Given the description of an element on the screen output the (x, y) to click on. 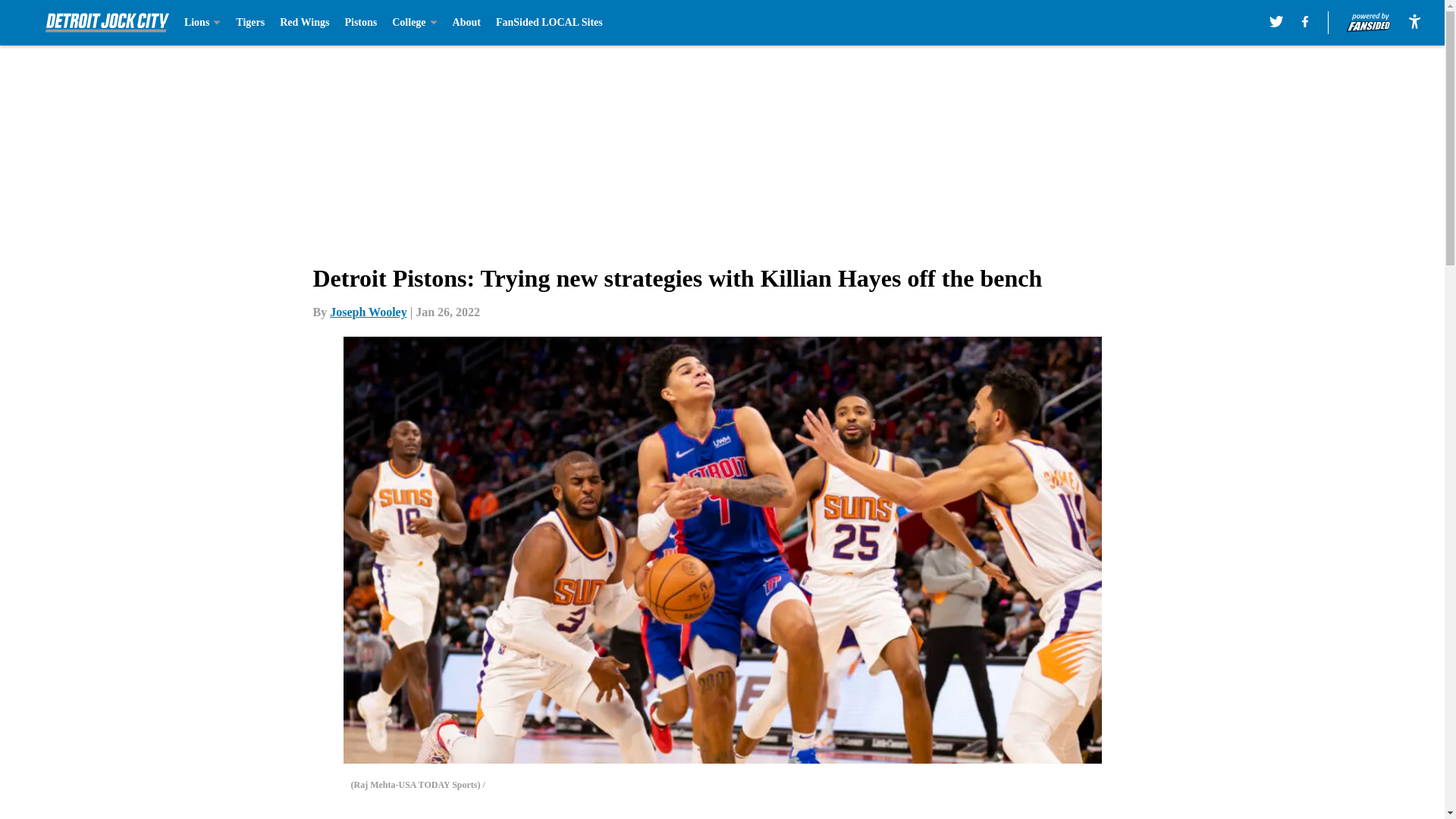
FanSided LOCAL Sites (549, 22)
Pistons (360, 22)
Tigers (249, 22)
About (466, 22)
Red Wings (304, 22)
Joseph Wooley (368, 311)
